Given the description of an element on the screen output the (x, y) to click on. 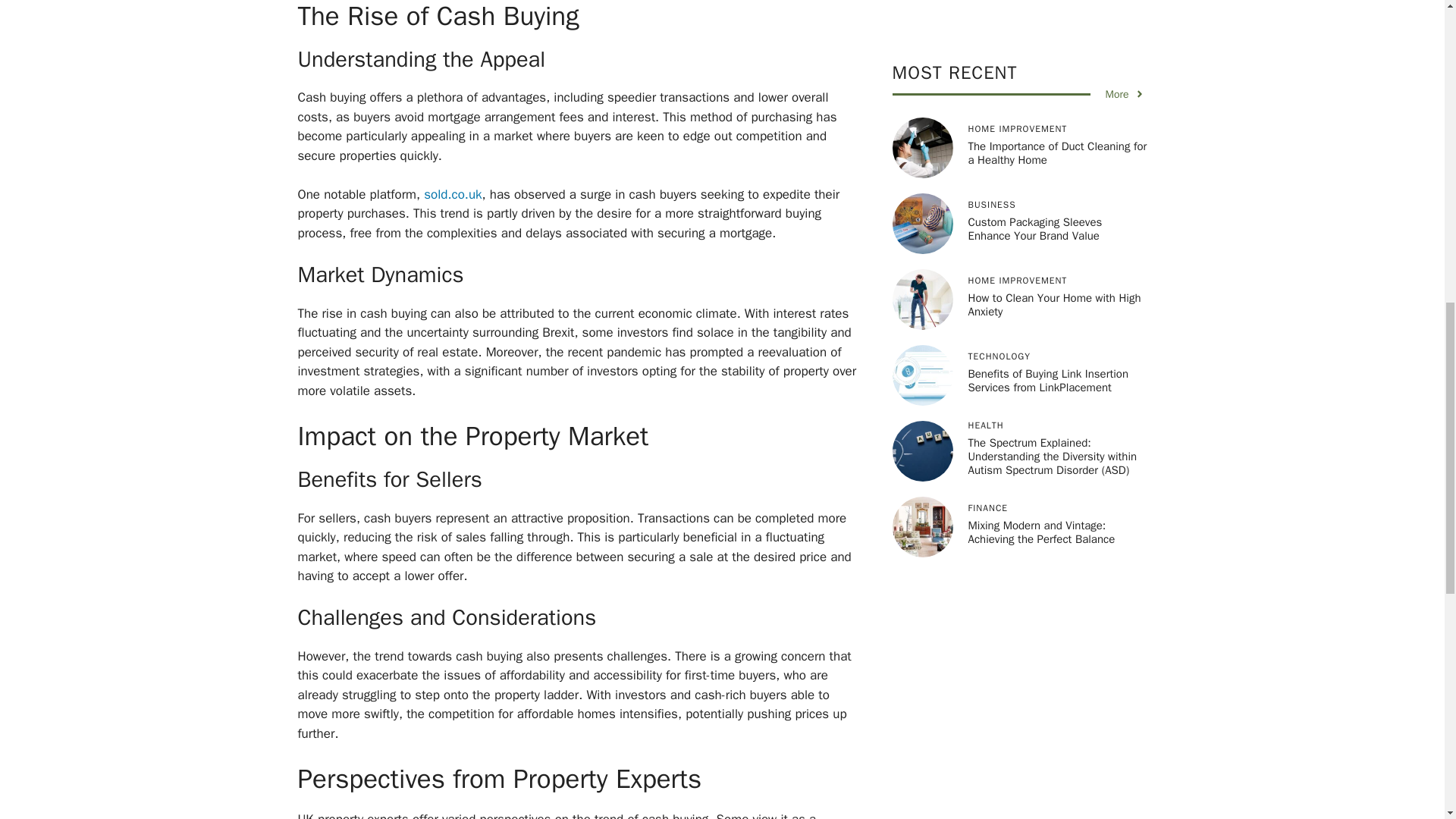
sold.co.uk (452, 194)
